Given the description of an element on the screen output the (x, y) to click on. 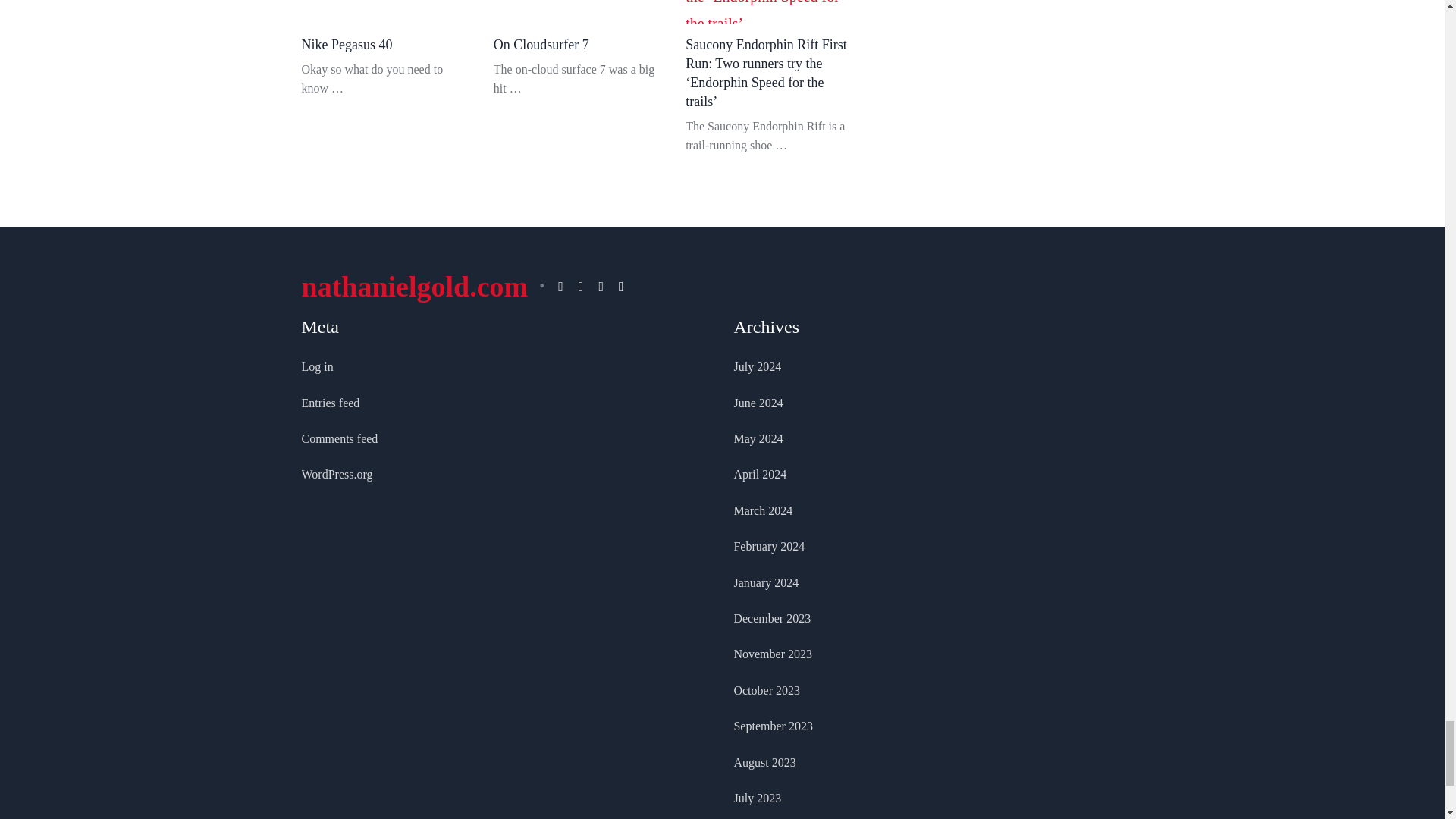
Nike Pegasus 40 (347, 44)
On Cloudsurfer 7 (577, 11)
Nike Pegasus 40 (385, 11)
